Given the description of an element on the screen output the (x, y) to click on. 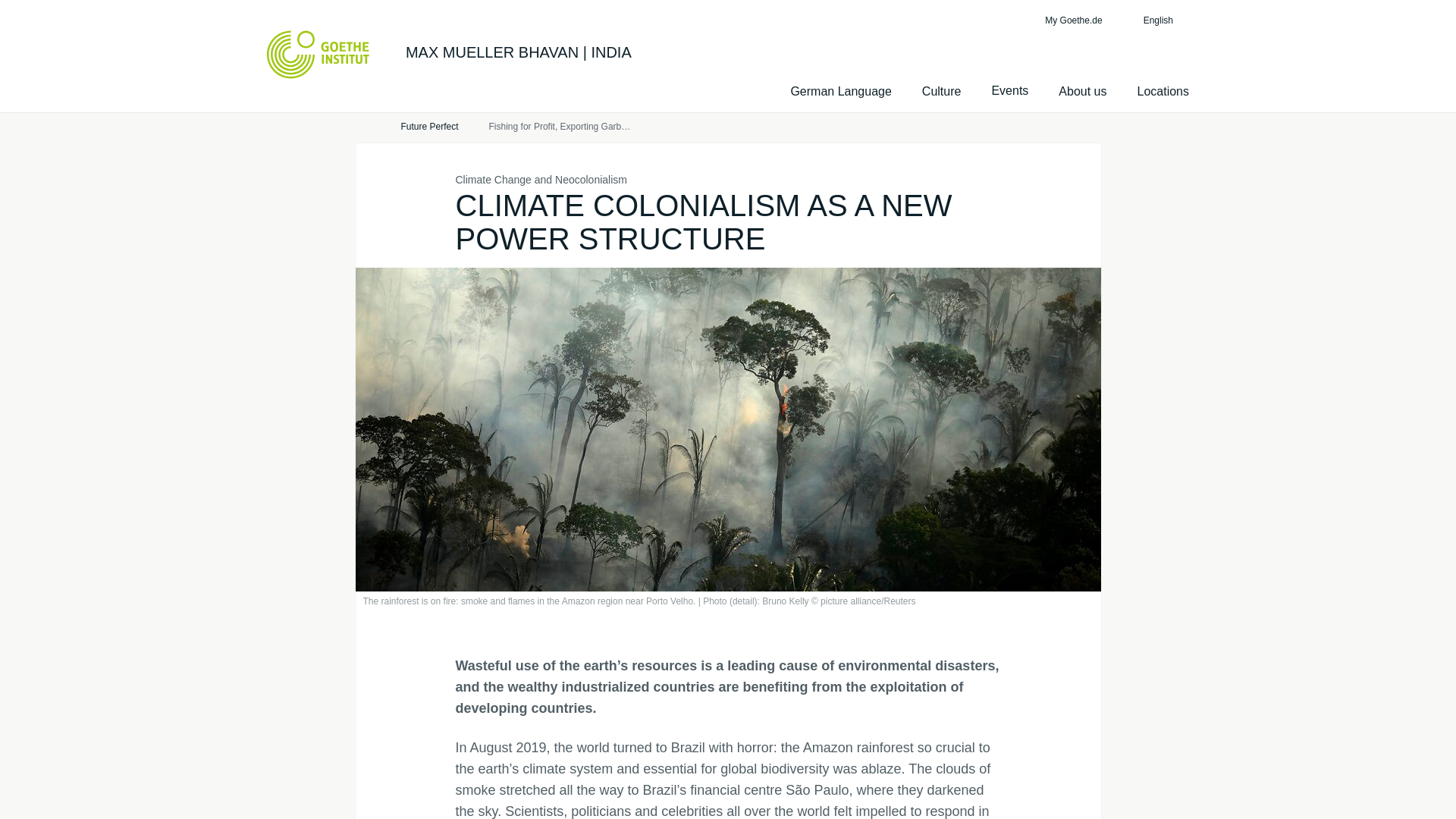
German Language (840, 91)
Claim Goethe Institut (317, 54)
Events (1009, 90)
English (1165, 20)
About us (1082, 91)
My Goethe.de (1070, 20)
Claim Goethe Institut (317, 54)
Future Perfect (429, 127)
Culture (940, 91)
Fishing for Profit, Exporting Garbage (560, 127)
